Given the description of an element on the screen output the (x, y) to click on. 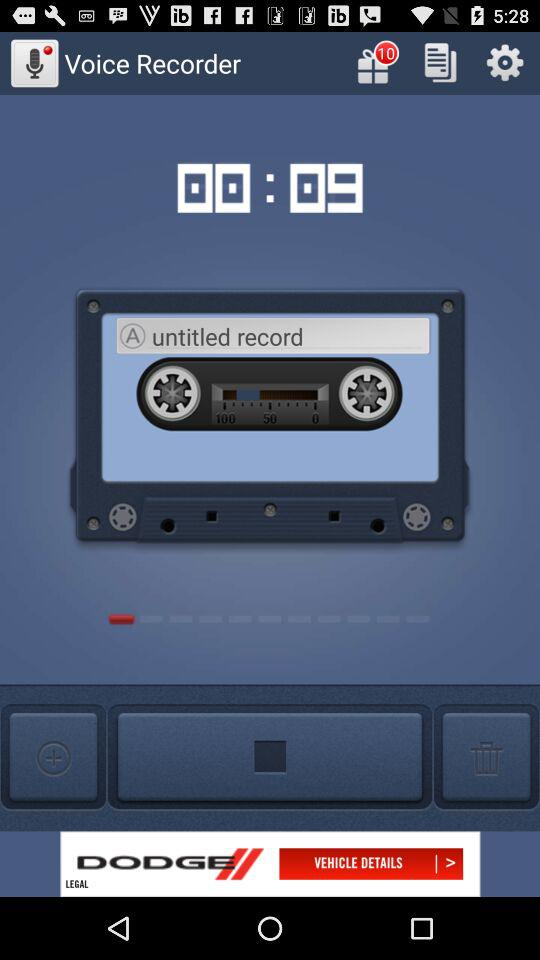
shows dodge option (270, 864)
